Given the description of an element on the screen output the (x, y) to click on. 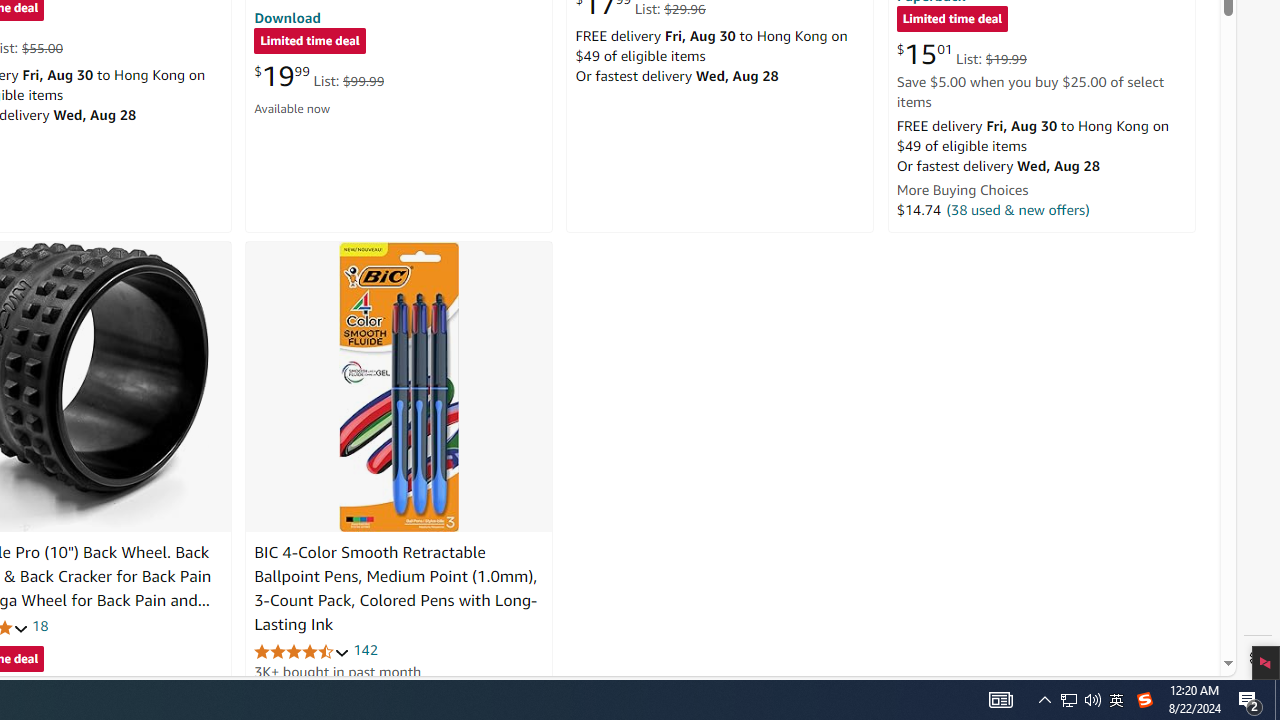
4.6 out of 5 stars (301, 650)
142 (365, 650)
Settings (1258, 658)
$19.99 List: $99.99 (319, 76)
(38 used & new offers) (1017, 209)
18 (40, 625)
Download (287, 17)
Limited time deal (952, 20)
$15.01 List: $19.99 (961, 54)
